Given the description of an element on the screen output the (x, y) to click on. 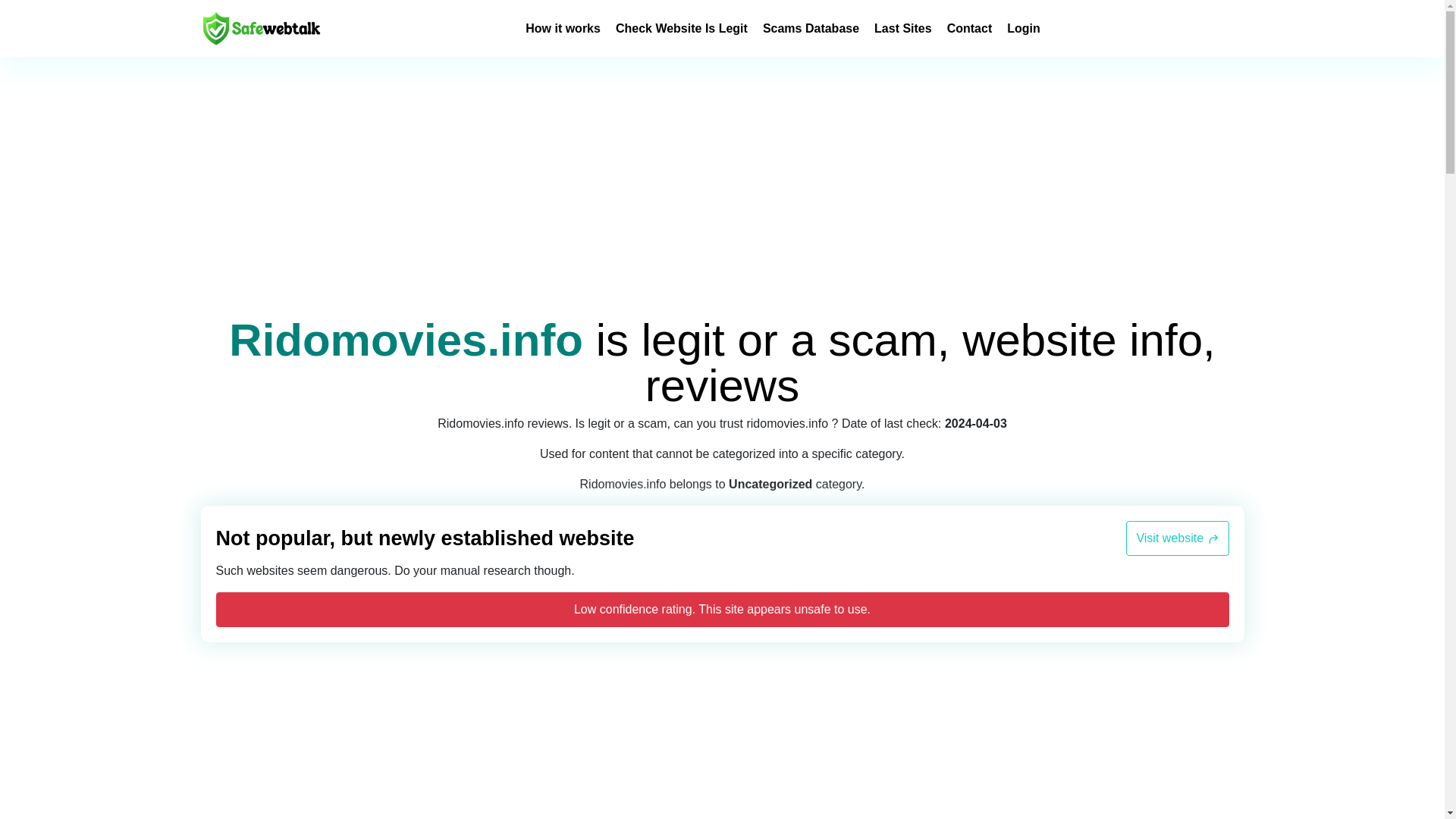
Last Sites (903, 27)
Login (1024, 27)
Visit website (1176, 538)
Scams Database (810, 27)
Contact (969, 27)
How it works (562, 27)
Check Website Is Legit (681, 27)
